Given the description of an element on the screen output the (x, y) to click on. 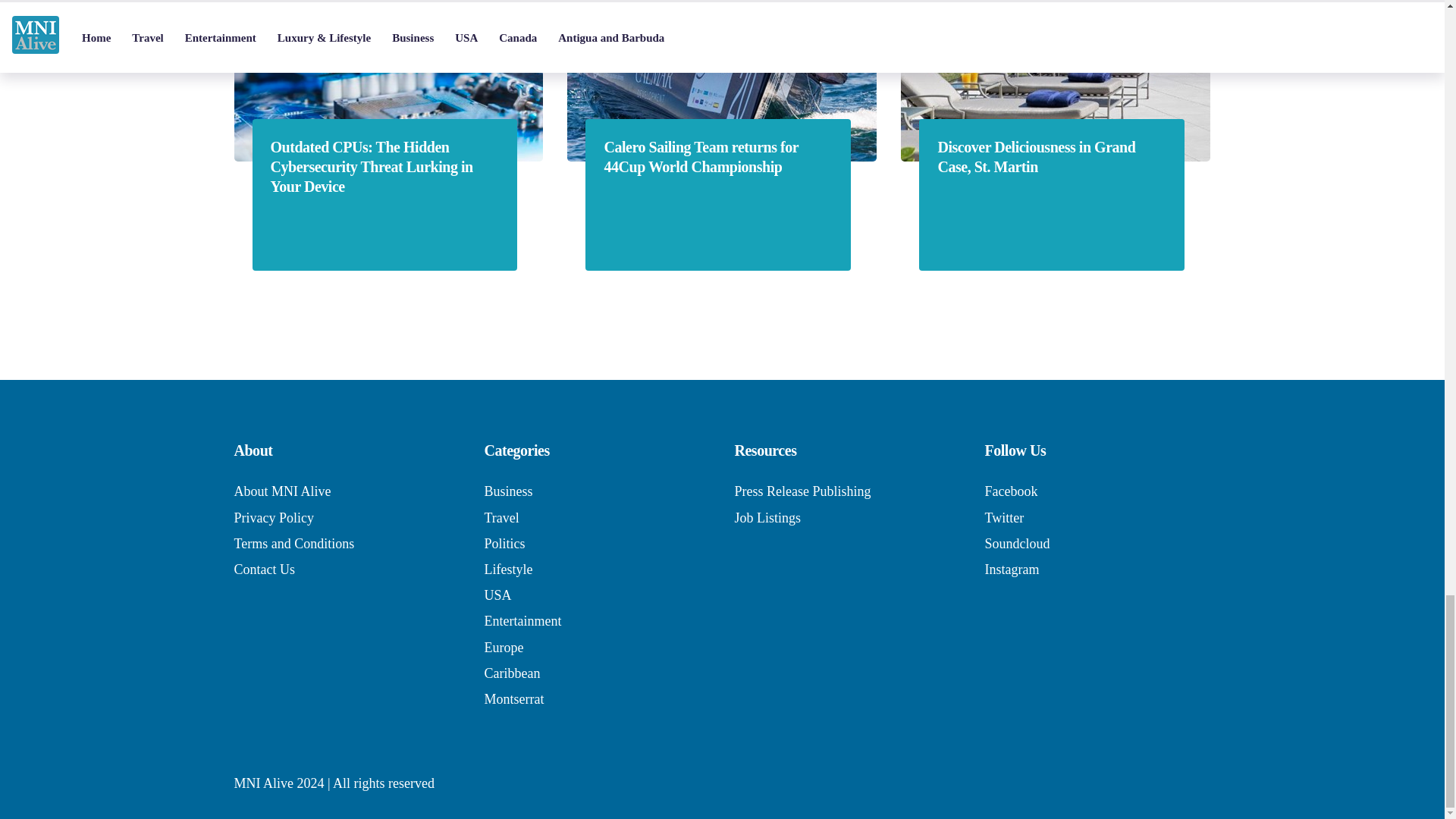
Montserrat (513, 698)
Privacy Policy (273, 517)
Business (507, 491)
Entertainment (521, 620)
Europe (502, 647)
USA (497, 595)
Lifestyle (507, 569)
Calero Sailing Team returns for 44Cup World Championship (717, 156)
Contact Us (263, 569)
